Given the description of an element on the screen output the (x, y) to click on. 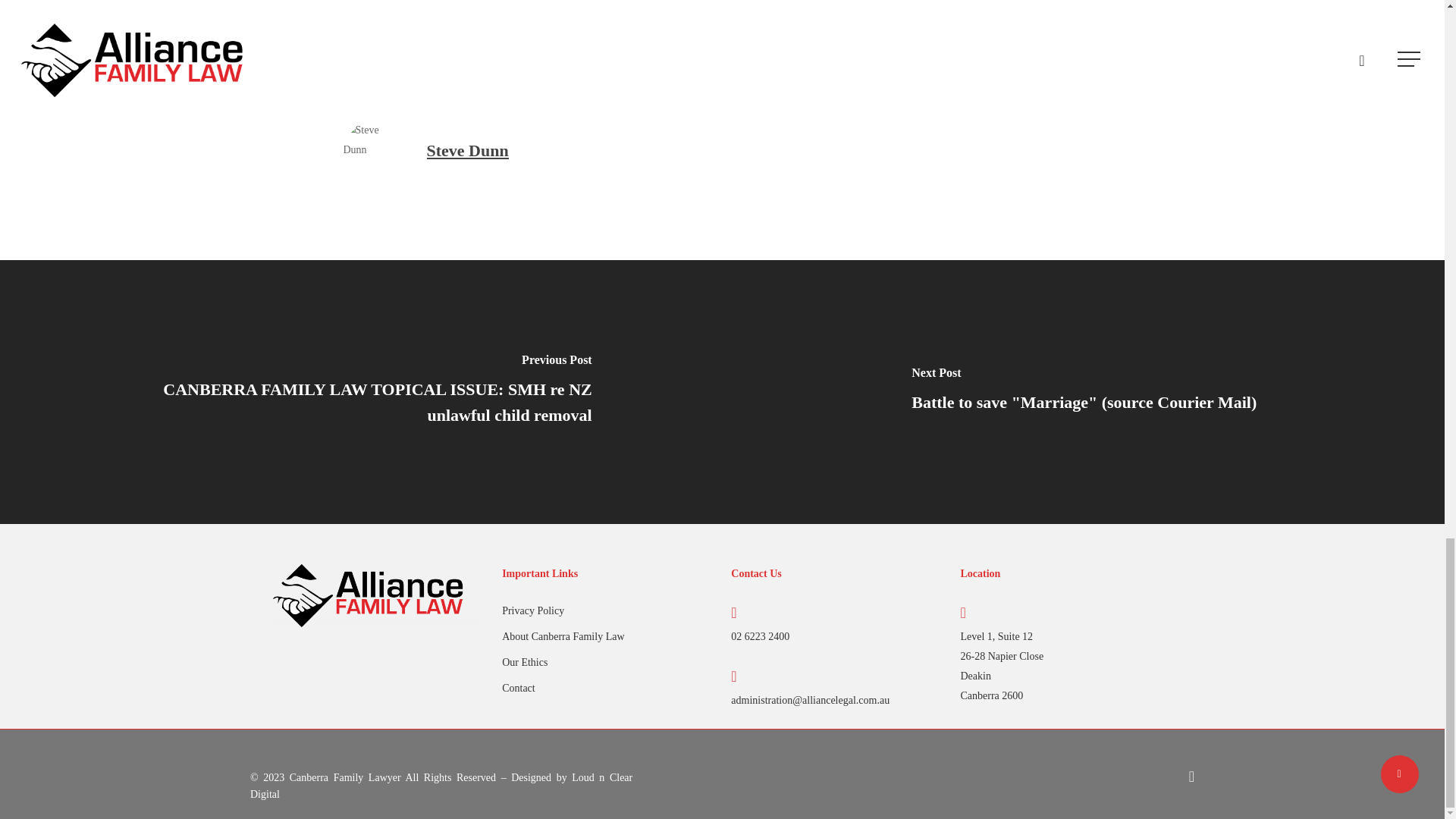
Our Ethics (607, 662)
Loud n Clear Digital (440, 786)
Steve Dunn (467, 149)
Privacy Policy (607, 610)
About Canberra Family Law (607, 637)
02 6223 2400 (759, 636)
Contact (607, 688)
